Given the description of an element on the screen output the (x, y) to click on. 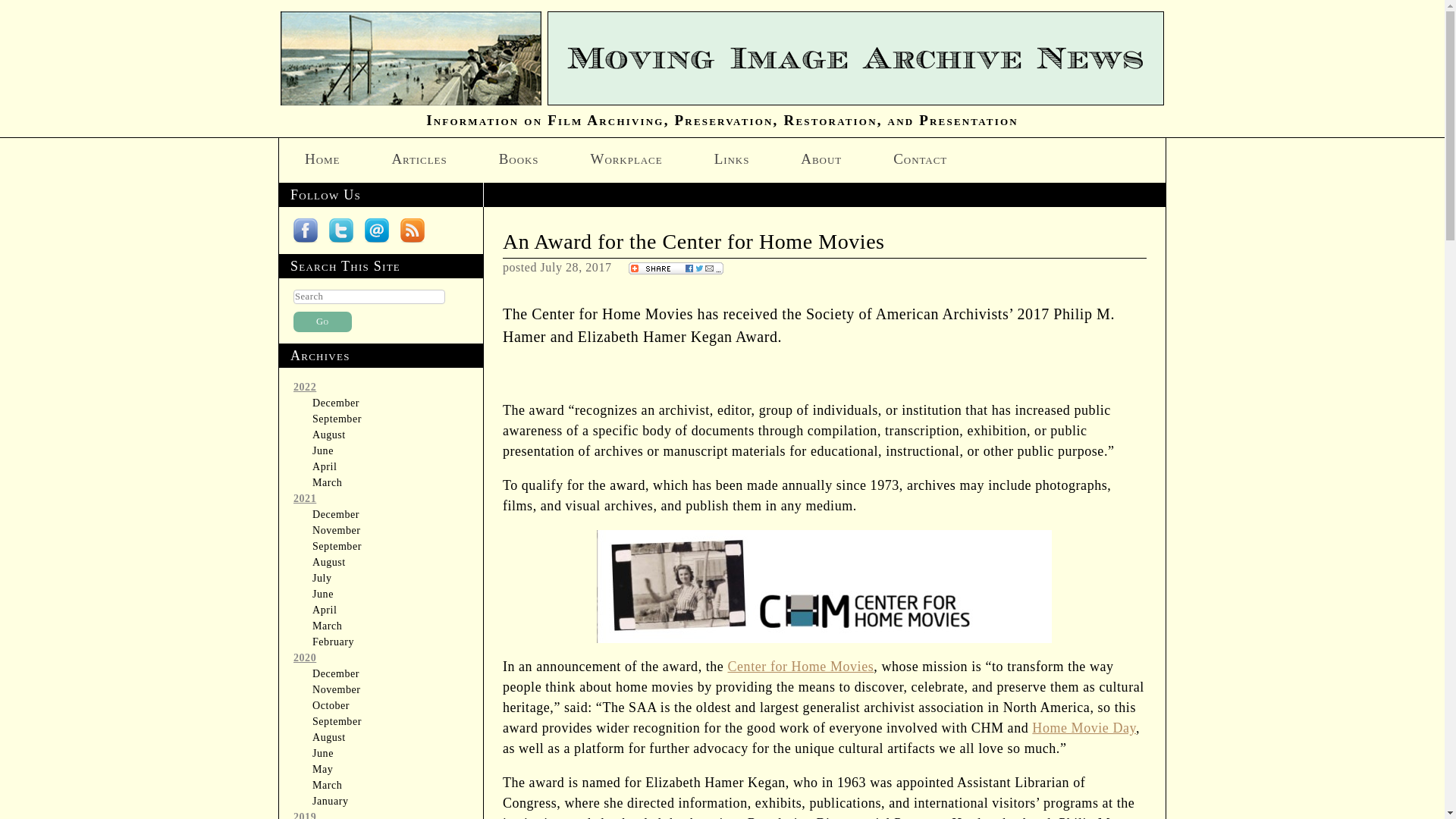
Workplace (626, 158)
2022 (304, 387)
Home Movie Day (1083, 727)
December (336, 402)
follow us on twitter (341, 230)
Follow Moving Image Archive News on Twitter (341, 230)
Home (321, 158)
Center for Home Movies (799, 666)
September (337, 419)
Subscribe by email to Moving Image Archive News (376, 230)
August (329, 434)
Subscribe Moving Image Archive News RSS feed (412, 230)
Go (323, 322)
Articles (418, 158)
Links (731, 158)
